Given the description of an element on the screen output the (x, y) to click on. 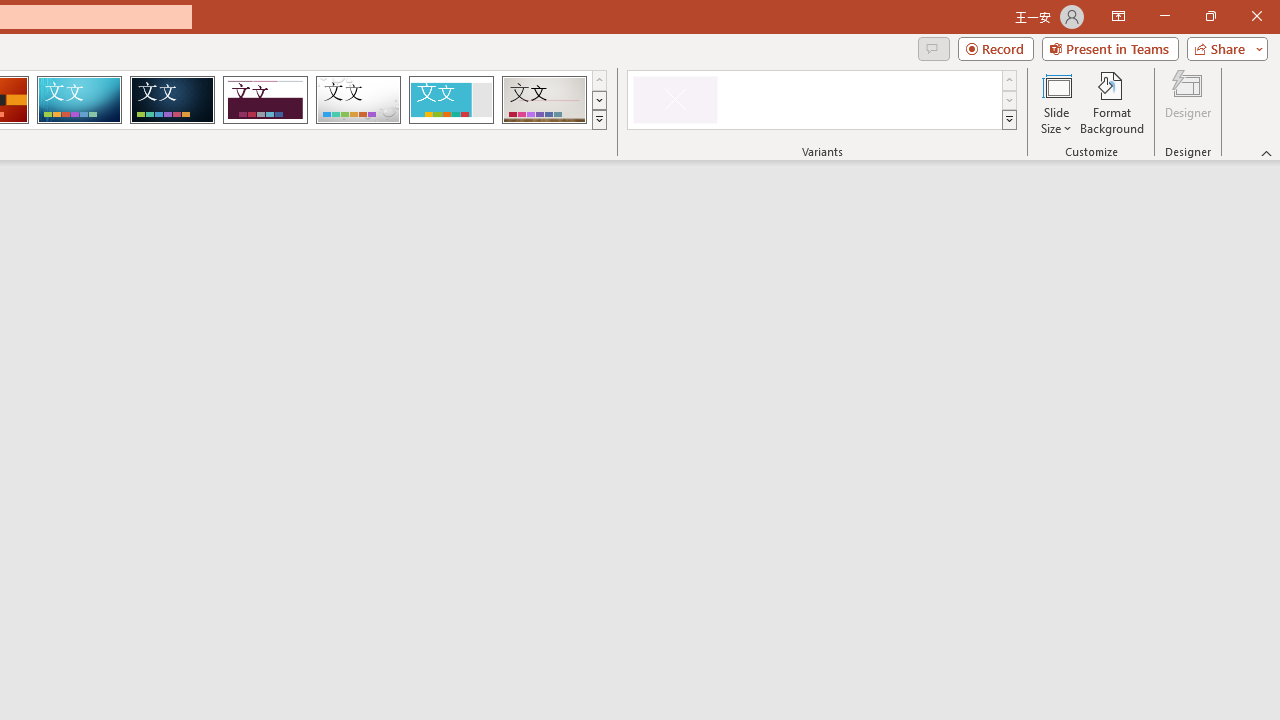
Frame Loading Preview... (450, 100)
Dividend Loading Preview... (265, 100)
